Given the description of an element on the screen output the (x, y) to click on. 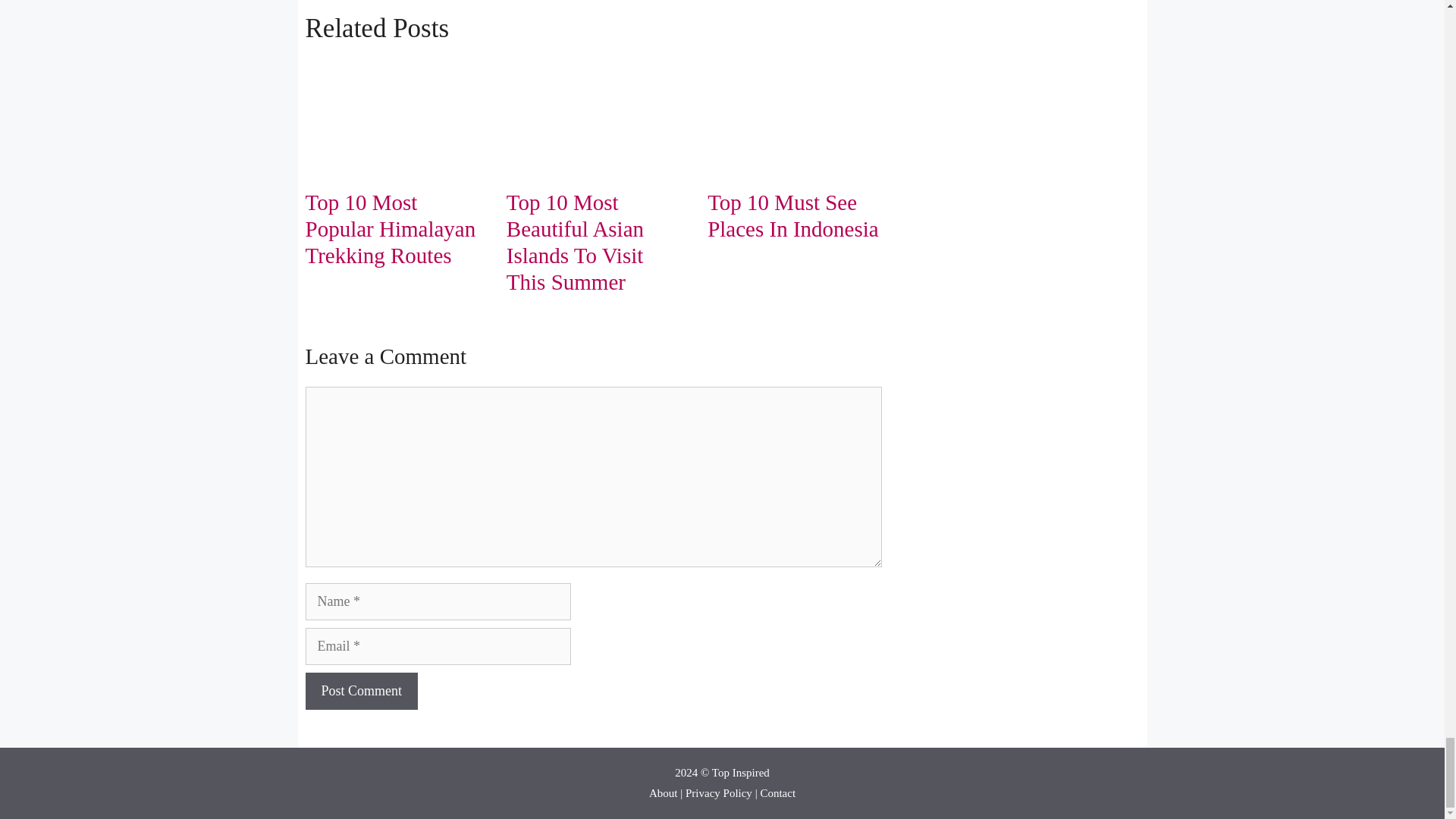
Top 10 Most Beautiful Asian Islands To Visit This Summer (574, 241)
Top 10 Most Popular Himalayan Trekking Routes (390, 228)
Post Comment (360, 691)
Post Comment (360, 691)
Top 10 Must See Places In Indonesia (793, 215)
